Given the description of an element on the screen output the (x, y) to click on. 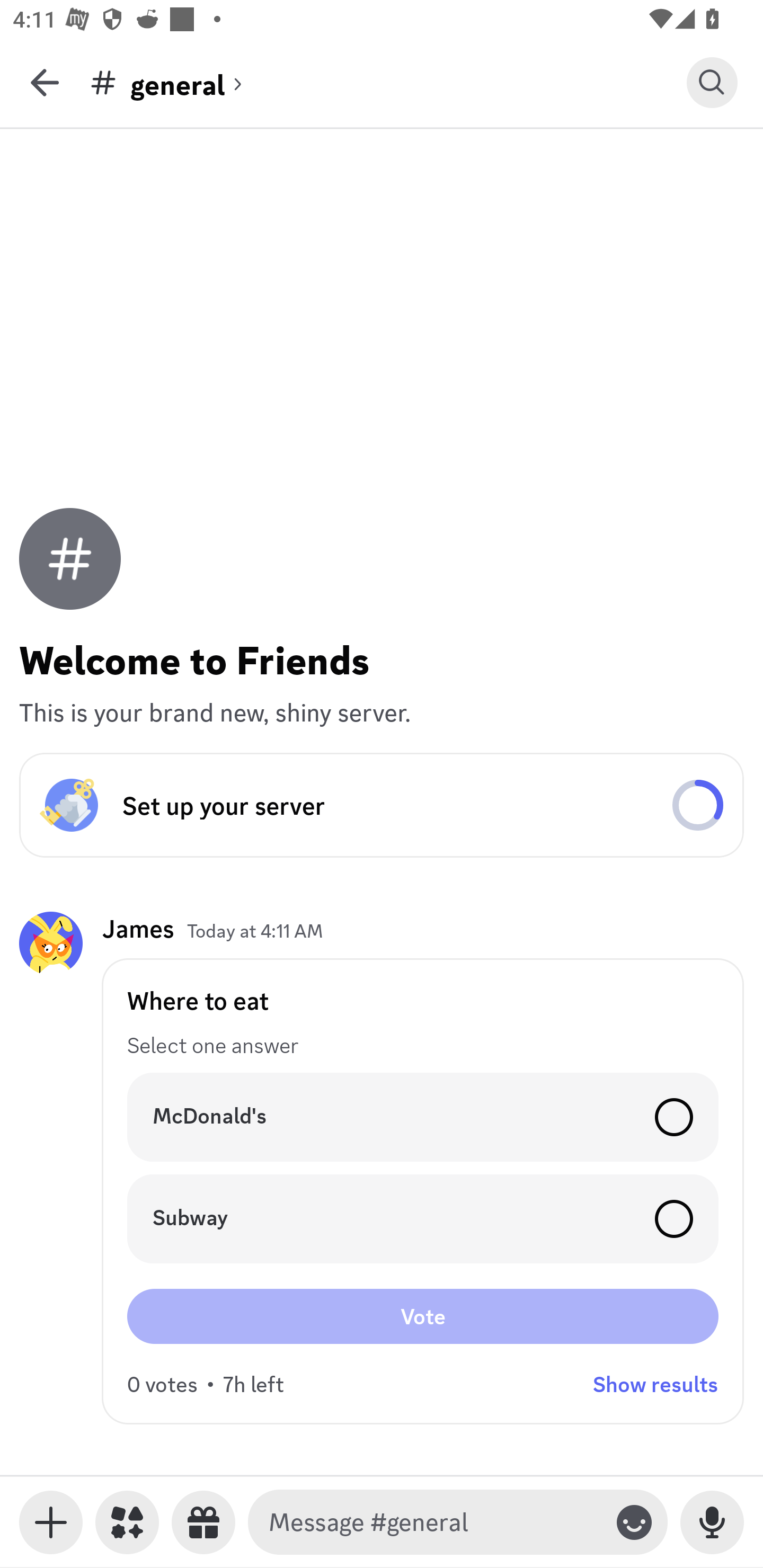
general (channel) general general (channel) (387, 82)
Back (44, 82)
Search (711, 82)
Set up your server (381, 804)
James (137, 928)
McDonald's (422, 1116)
Subway (422, 1218)
Vote (422, 1315)
0 votes  •  7h left (205, 1383)
Show results (655, 1383)
Message #general Toggle emoji keyboard (457, 1522)
Toggle media keyboard (50, 1522)
Apps (126, 1522)
Send a gift (203, 1522)
Record Voice Message (711, 1522)
Toggle emoji keyboard (634, 1522)
